Given the description of an element on the screen output the (x, y) to click on. 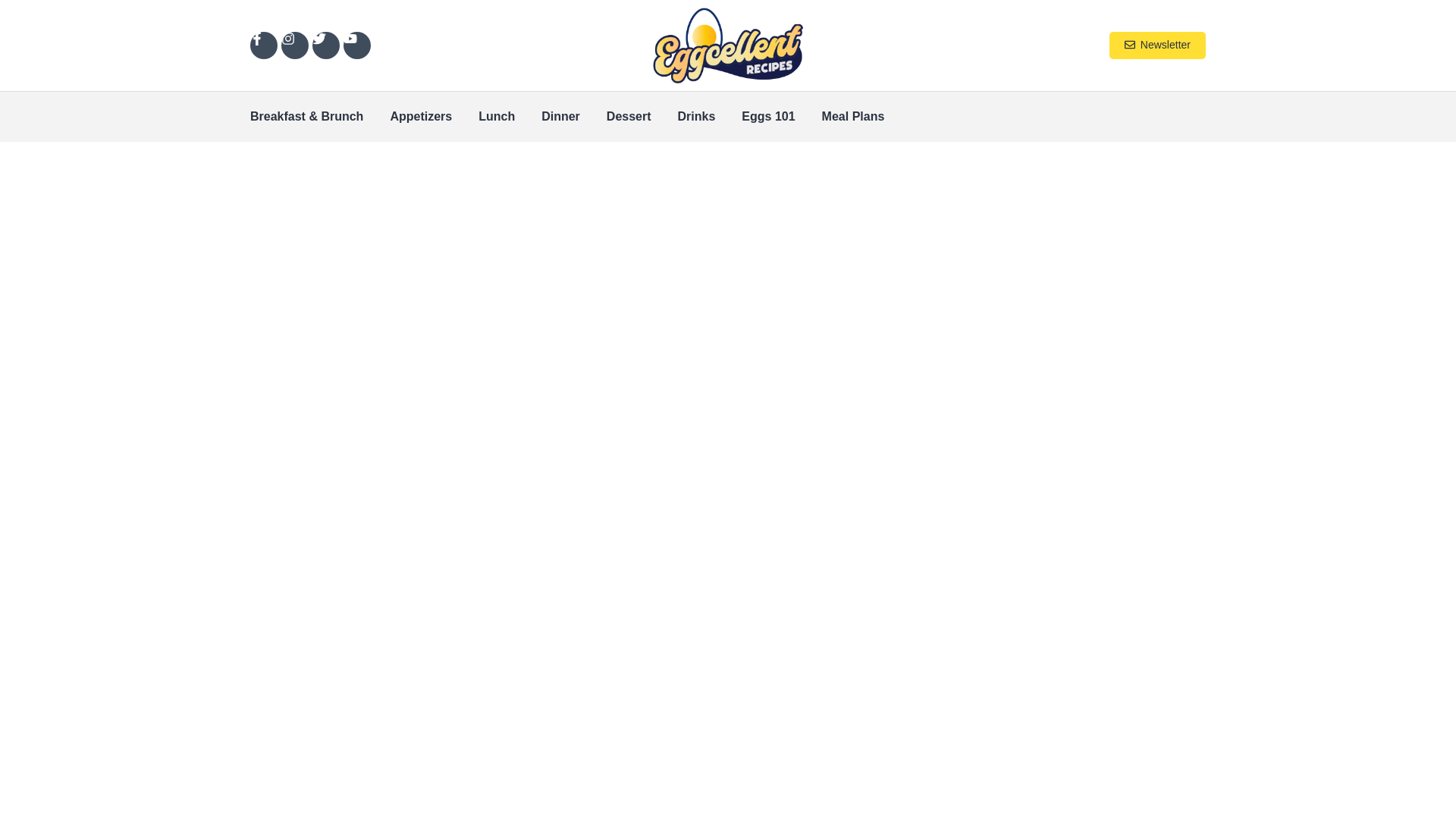
Newsletter (1157, 44)
